Given the description of an element on the screen output the (x, y) to click on. 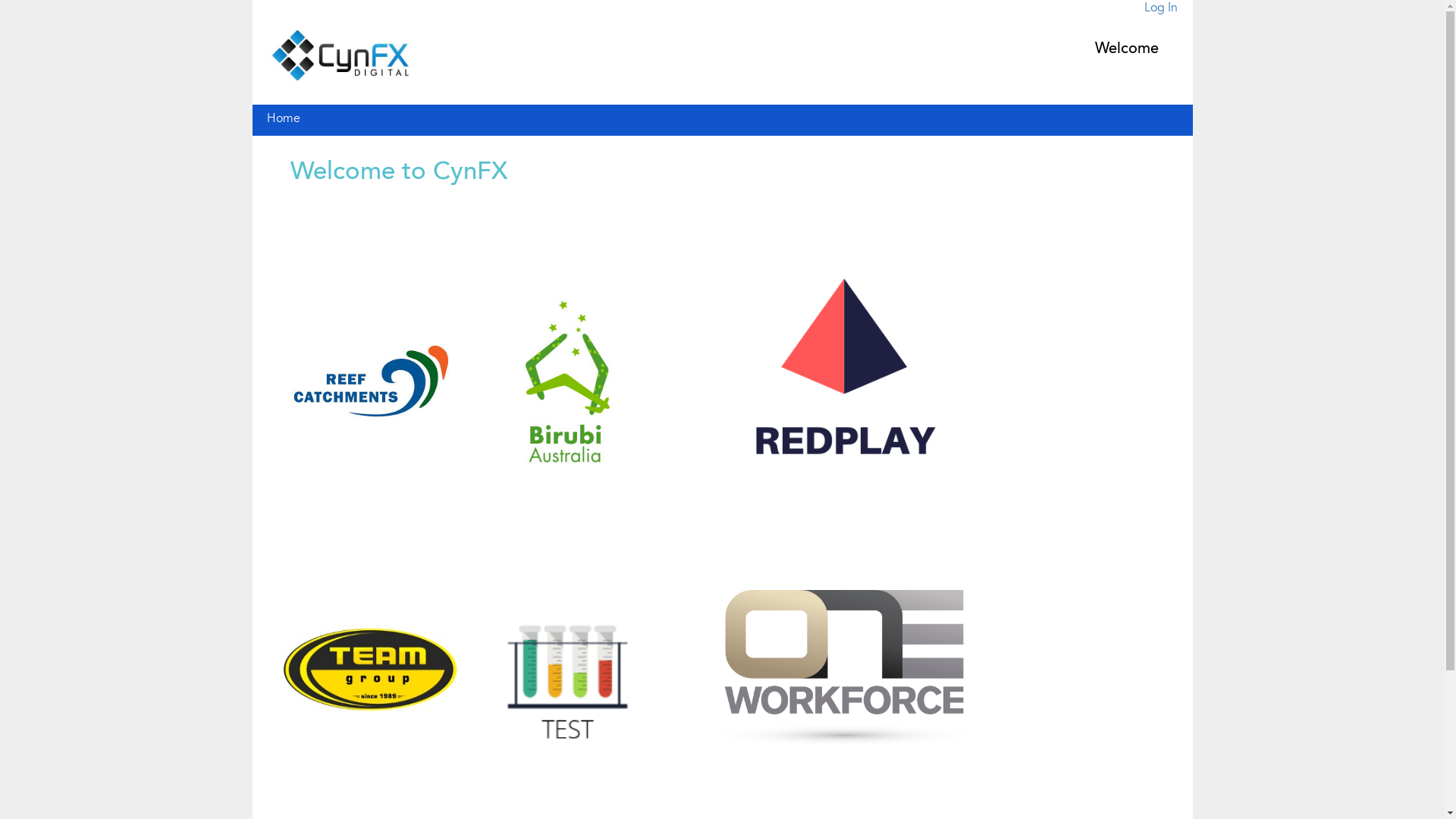
Log In Element type: text (1159, 8)
Go to IMS Element type: hover (339, 55)
Welcome Element type: text (1125, 49)
Home Element type: text (283, 118)
